Given the description of an element on the screen output the (x, y) to click on. 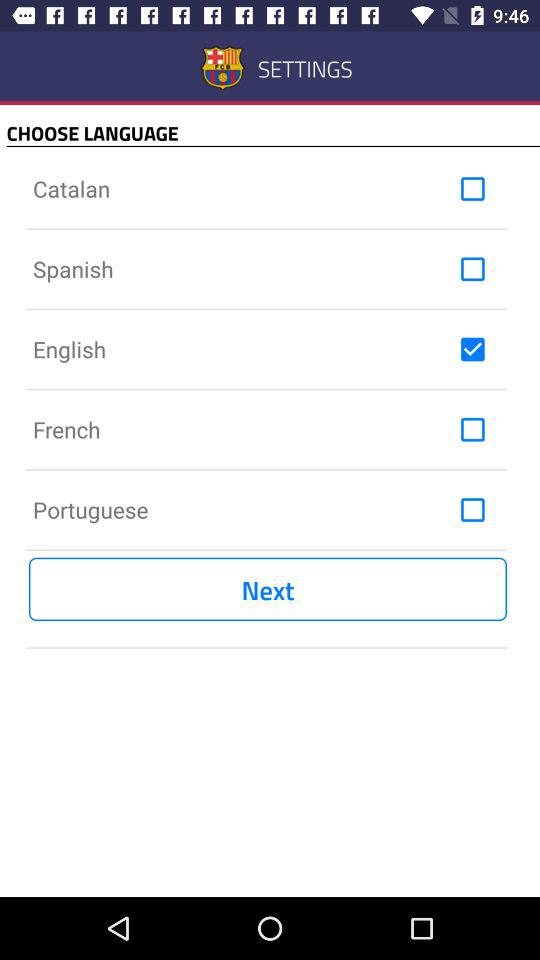
ativar a funo para escolher a lingua de portugus (472, 510)
